Given the description of an element on the screen output the (x, y) to click on. 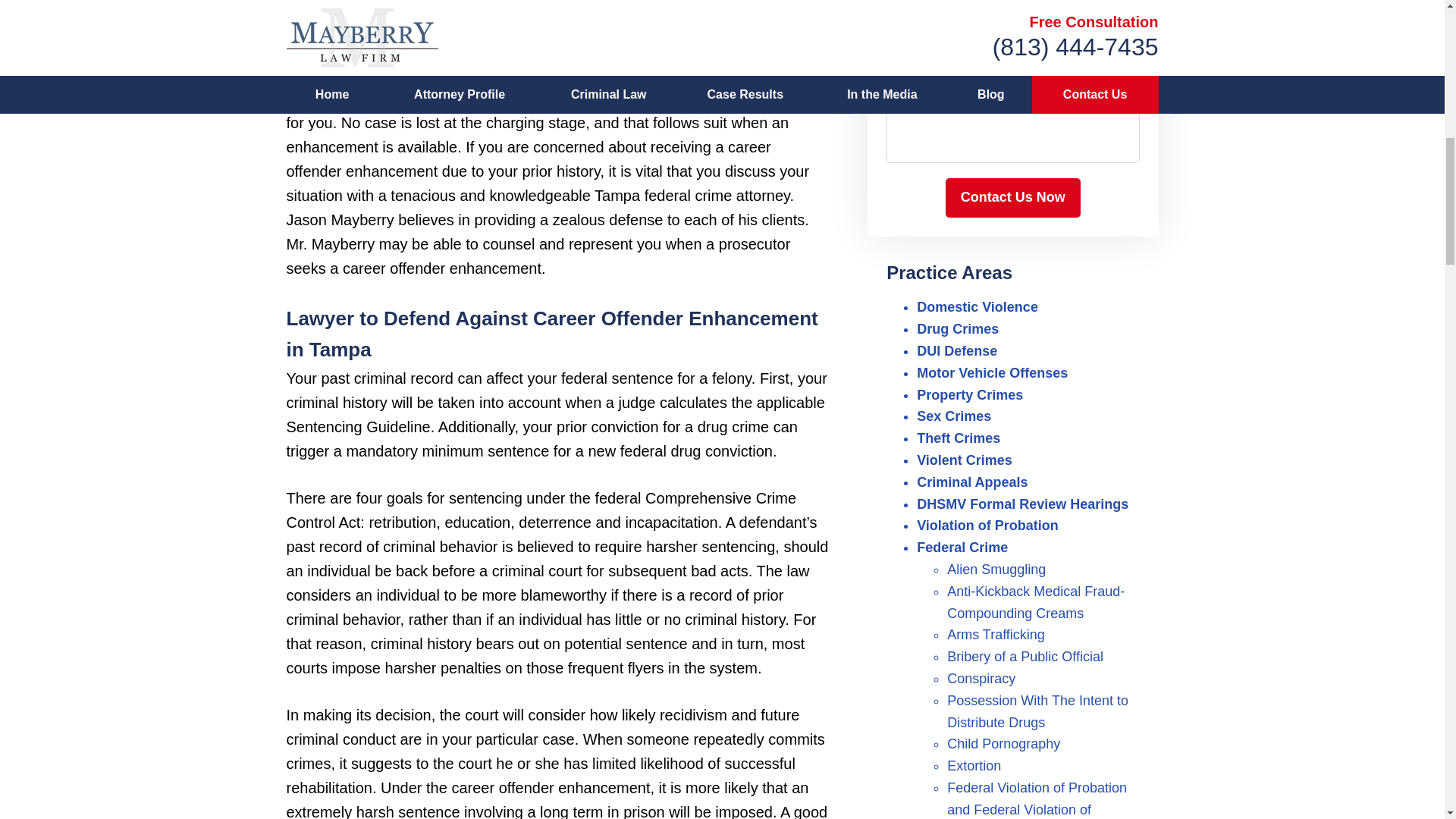
DHSMV Formal Review Hearings (1022, 503)
Practice Areas (948, 272)
Violent Crimes (964, 459)
Theft Crimes (958, 437)
Domestic Violence (977, 306)
Alien Smuggling (996, 569)
Violation of Probation (987, 525)
Contact Us Now (1012, 197)
Sex Crimes (954, 416)
Federal Crime (962, 547)
